Given the description of an element on the screen output the (x, y) to click on. 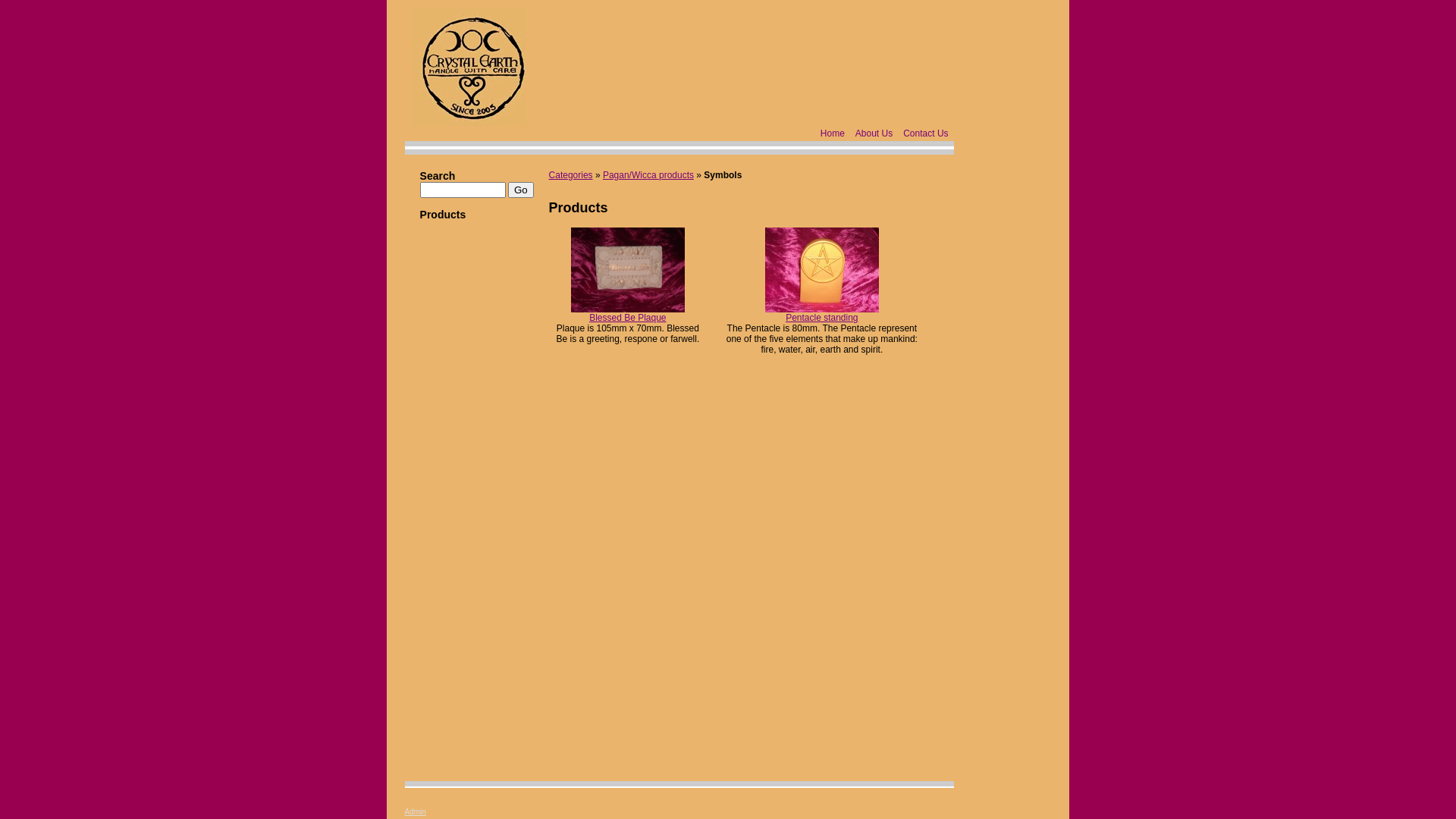
Home Element type: text (832, 133)
Categories Element type: text (571, 174)
Blessed Be Plaque Element type: text (627, 317)
Go Element type: text (520, 189)
Pagan/Wicca products Element type: text (647, 174)
About Us Element type: text (873, 133)
Admin Element type: text (415, 810)
Pentacle standing Element type: text (821, 317)
Contact Us Element type: text (925, 133)
